Given the description of an element on the screen output the (x, y) to click on. 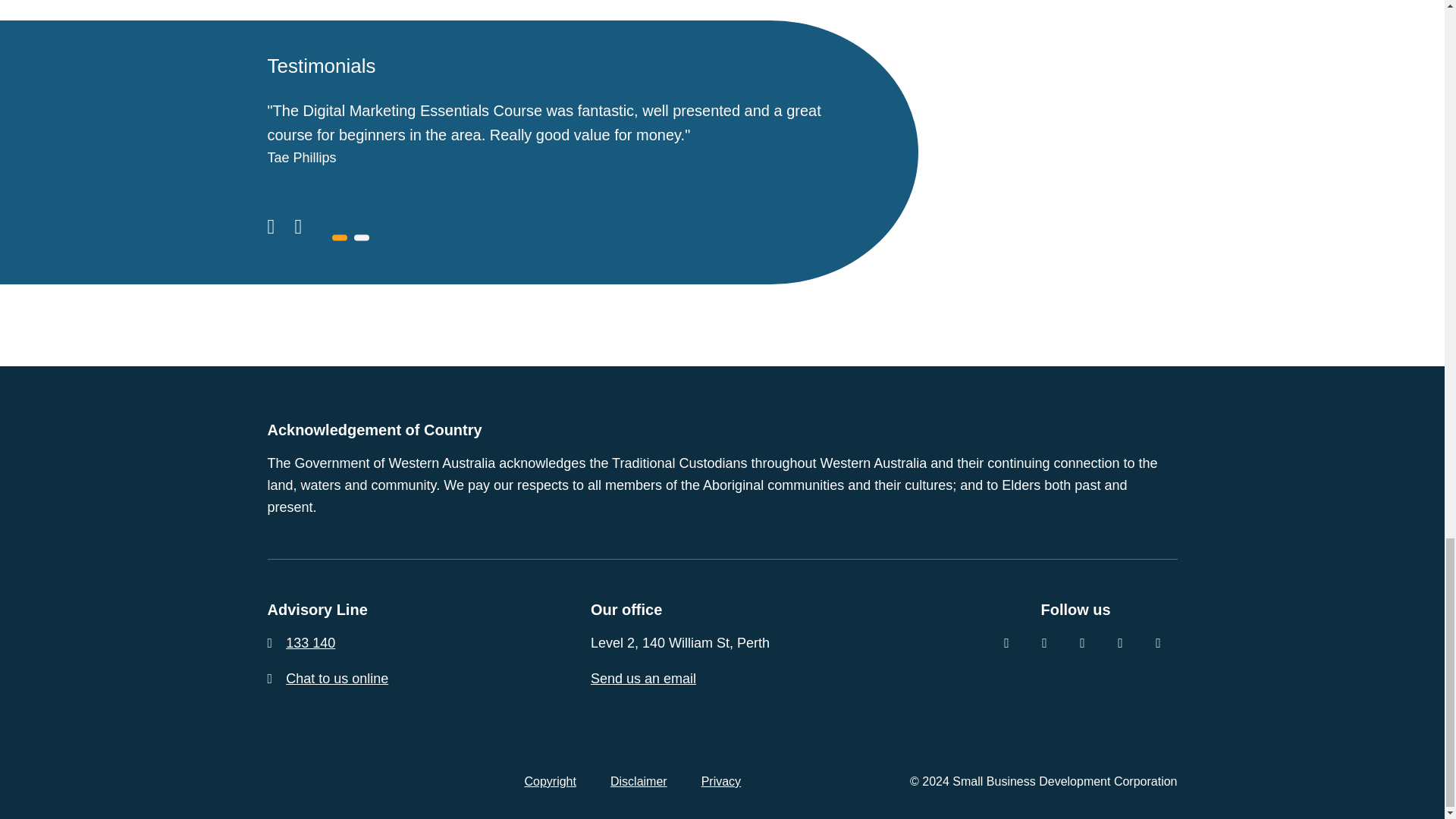
Government of Western Australia (304, 781)
